Given the description of an element on the screen output the (x, y) to click on. 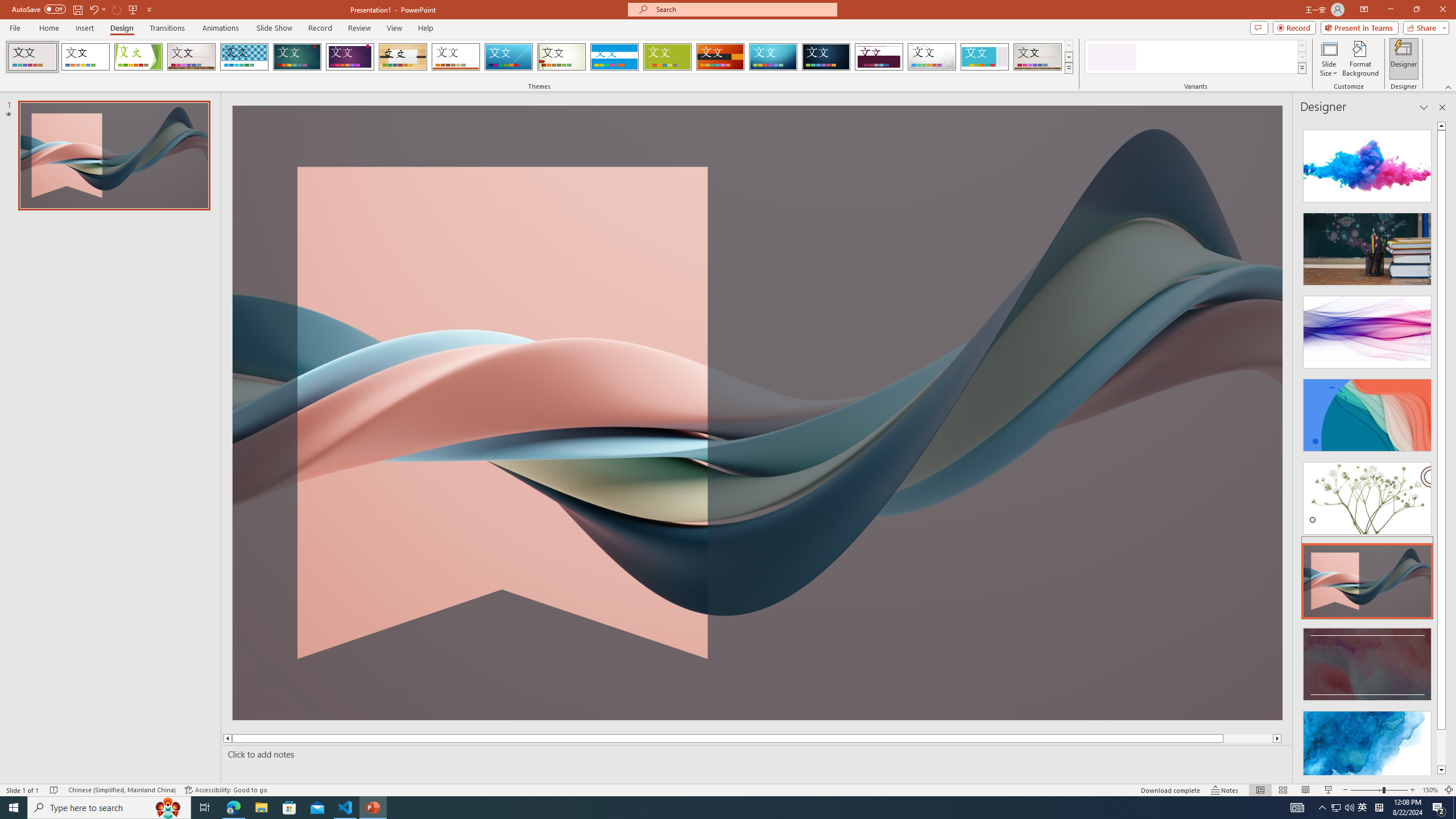
Frame (984, 56)
AdornVTI (32, 56)
Ion (296, 56)
